Given the description of an element on the screen output the (x, y) to click on. 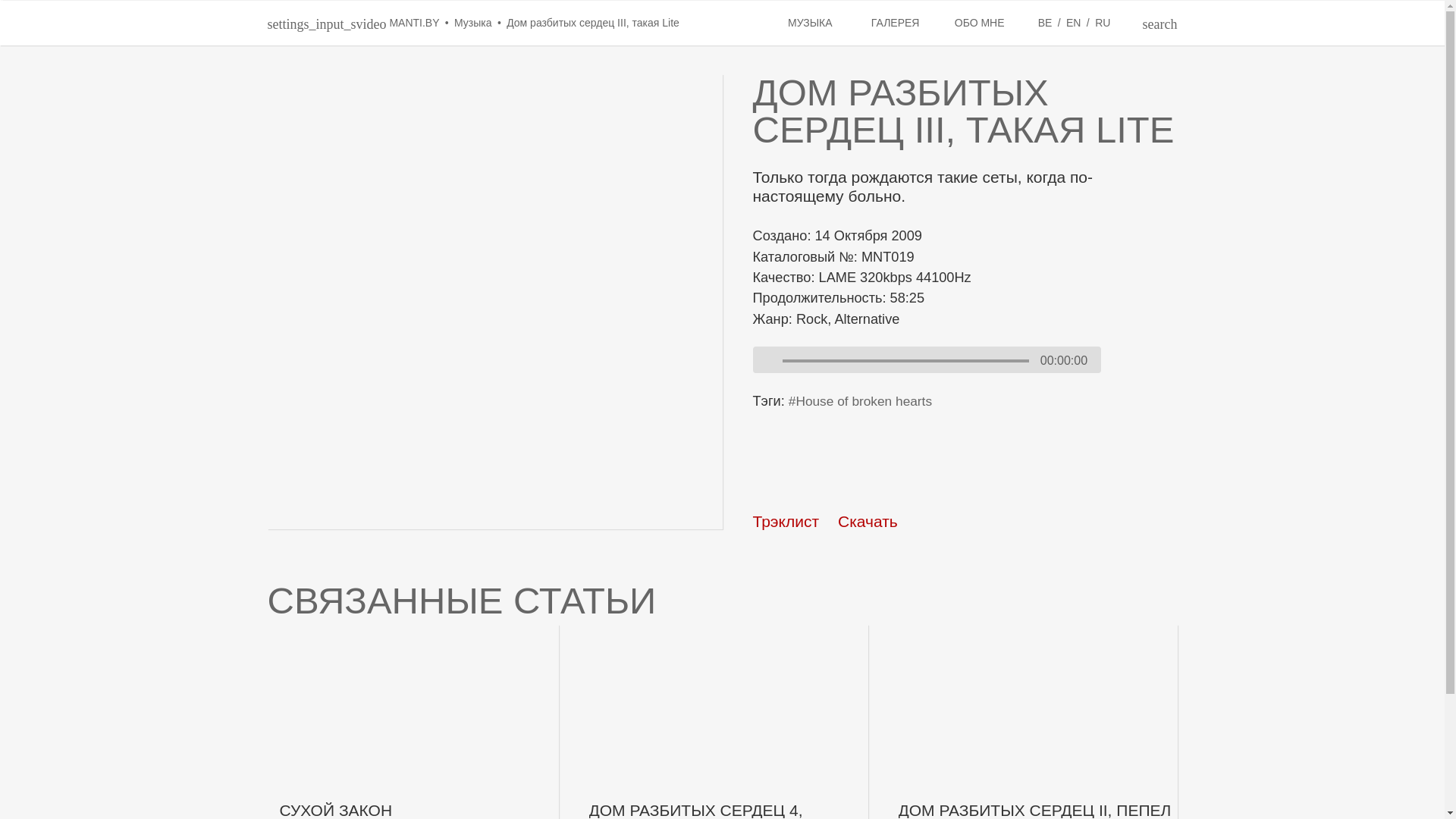
settings_input_svideo MANTI.BY Element type: text (354, 22)
House of broken hearts Element type: text (859, 401)
BE Element type: text (1046, 22)
EN Element type: text (1074, 22)
